Given the description of an element on the screen output the (x, y) to click on. 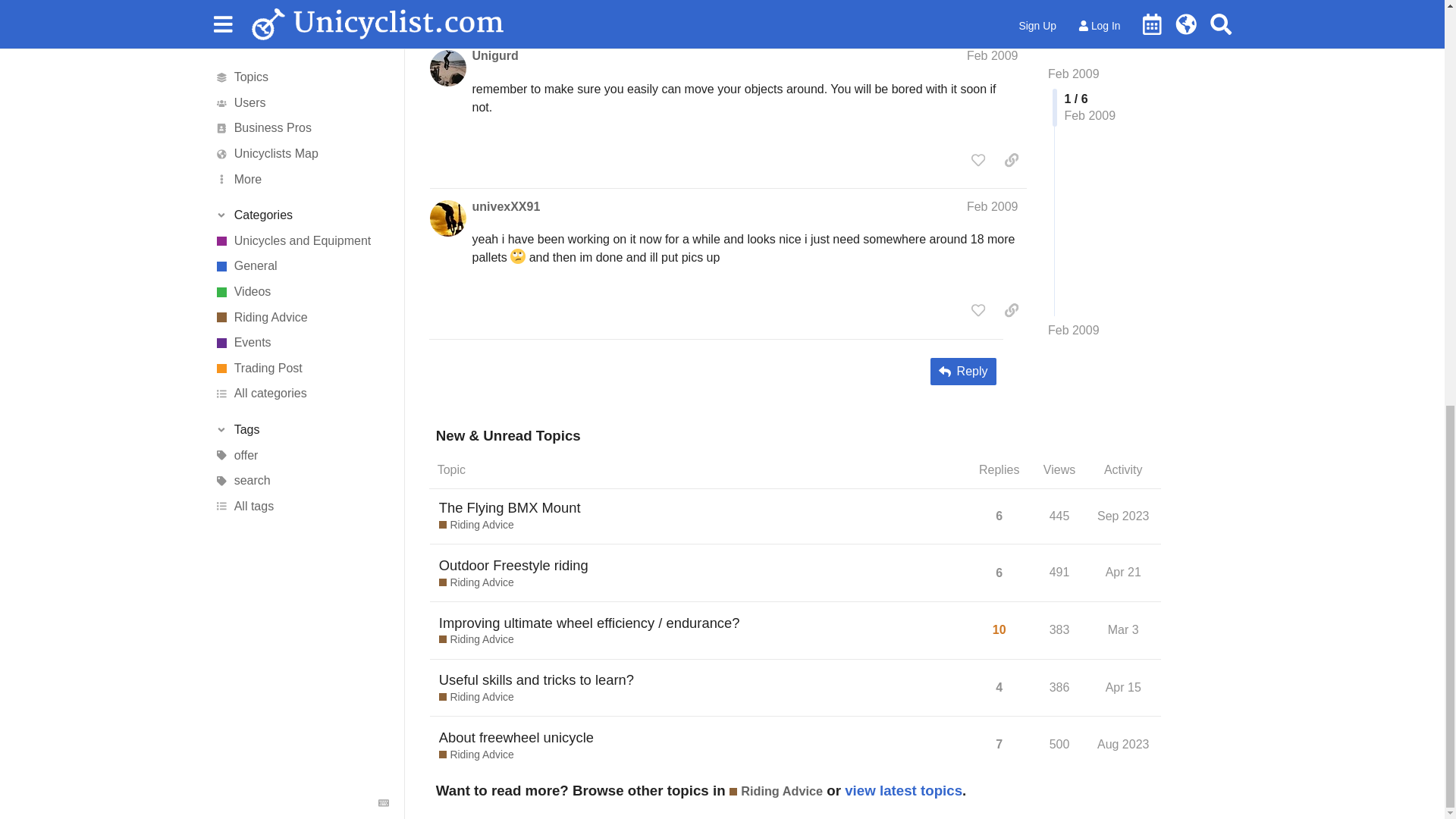
Keyboard Shortcuts (384, 4)
